Given the description of an element on the screen output the (x, y) to click on. 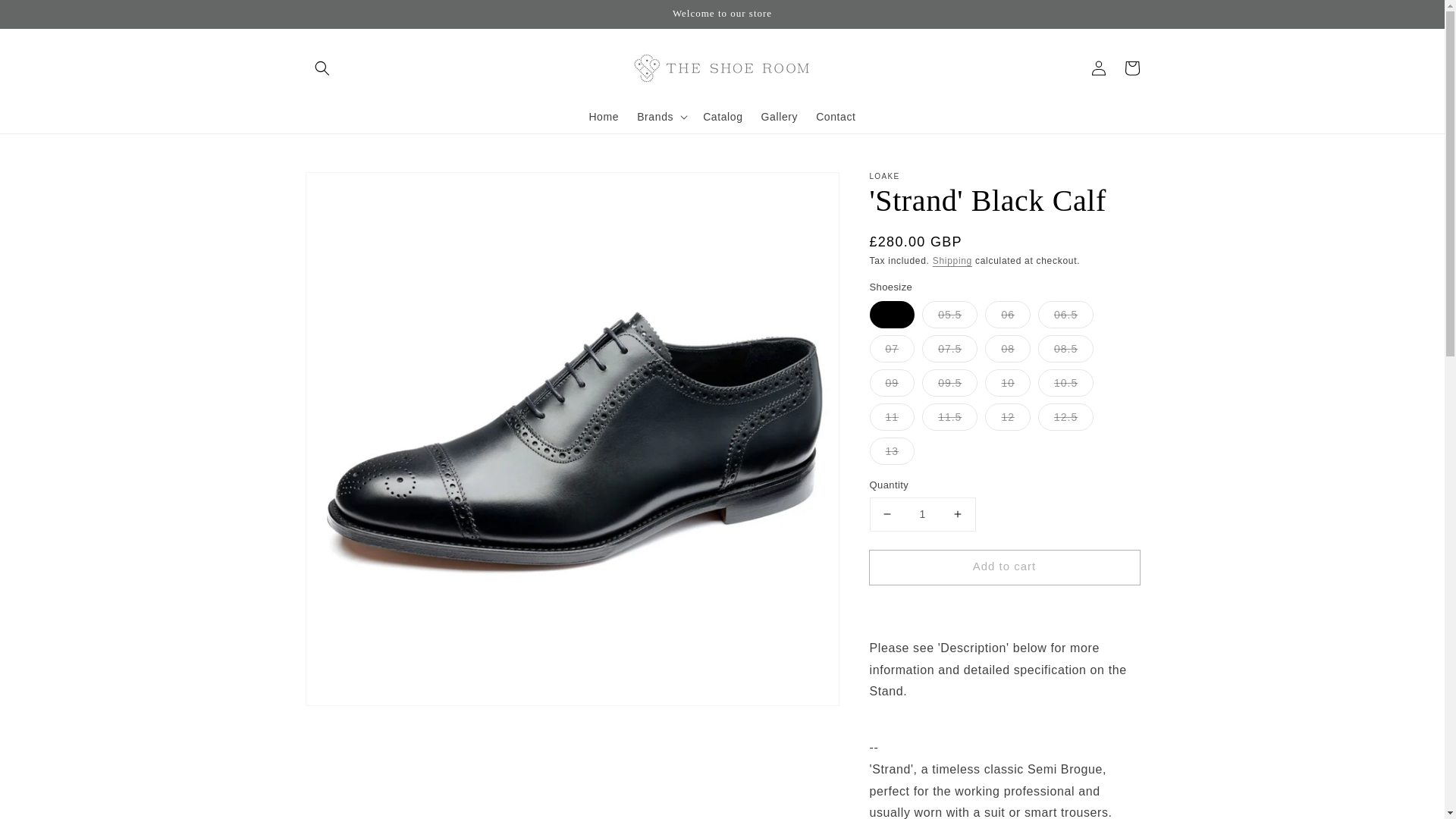
1 (922, 513)
